Given the description of an element on the screen output the (x, y) to click on. 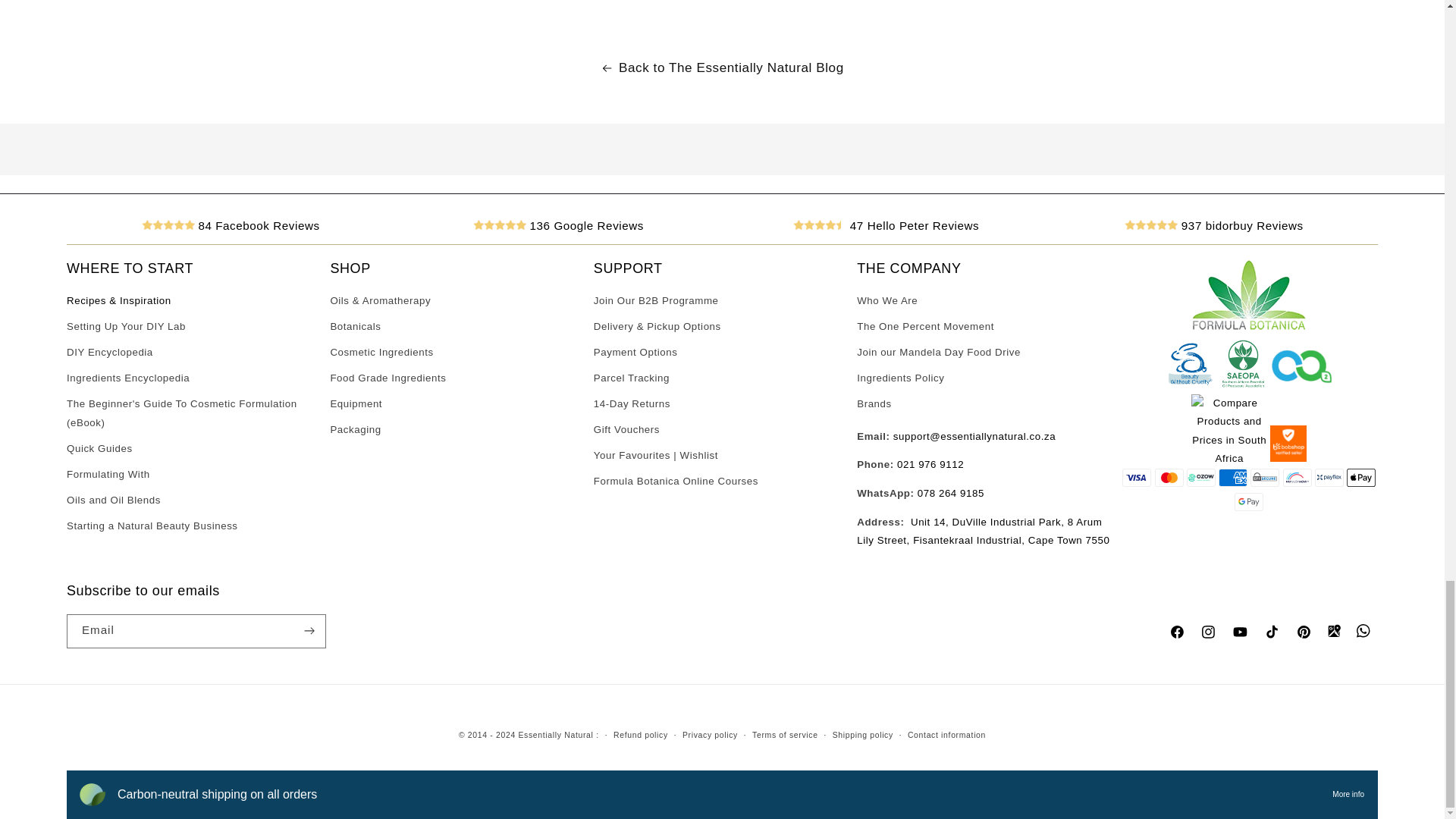
American Express (1232, 477)
Compare Products and Prices in South Africa (1228, 458)
Mastercard (1168, 477)
EFT Secure (1264, 477)
Beauty Without Cruelty Endorsed (1190, 383)
021 976 9112 (929, 464)
Credible Carbon (1301, 383)
Google Pay (1248, 502)
Whatsapp (950, 492)
Essentially Natural (983, 531)
Visa (1136, 477)
Formula Botanica Partner (1249, 328)
Ozow (1200, 477)
Payflex (1328, 477)
